Given the description of an element on the screen output the (x, y) to click on. 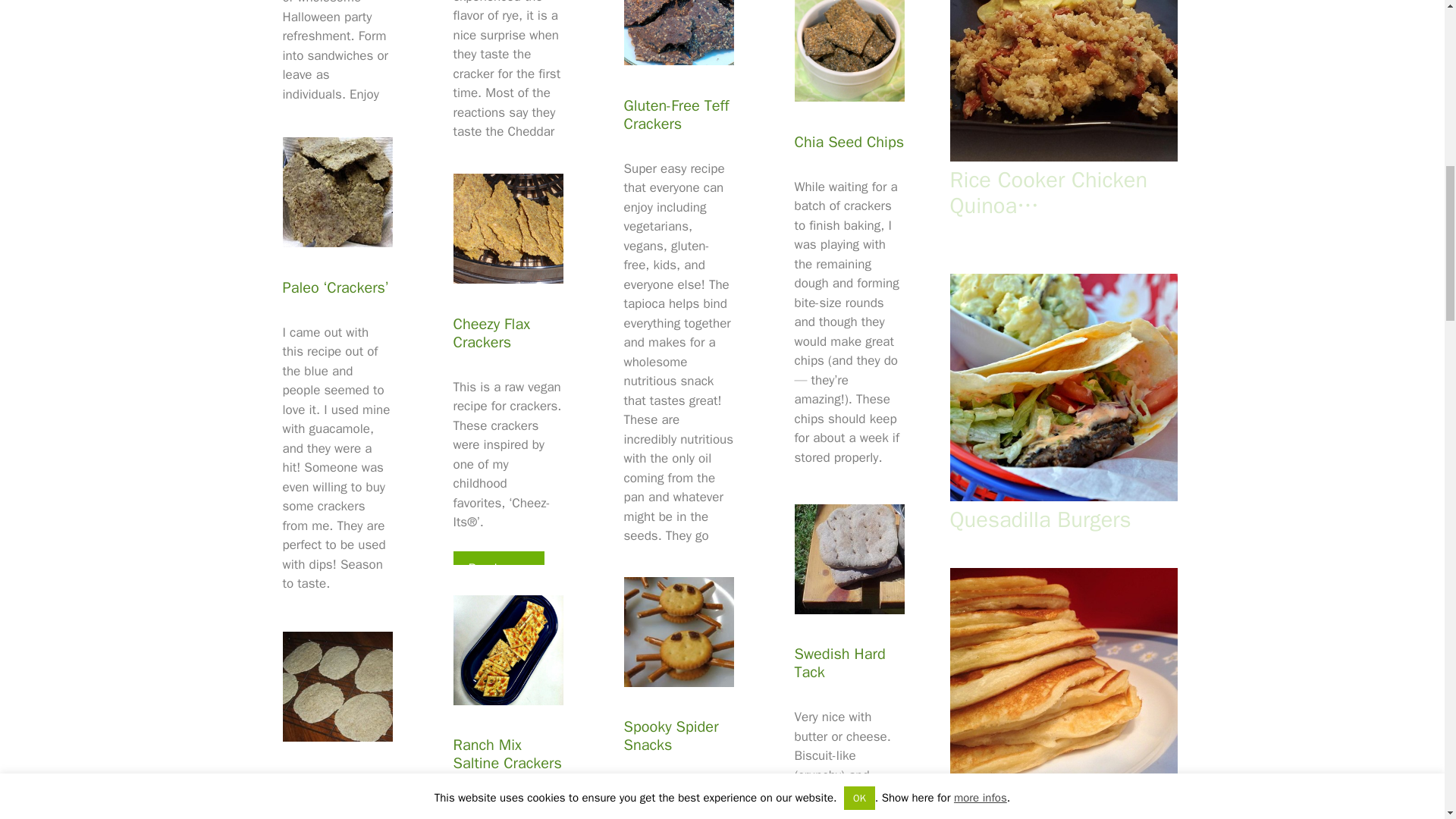
Rye and Cheese Crackers (498, 255)
Chia Seed Chips (840, 503)
PB Ghosties (328, 179)
Gluten-Free Teff Crackers (668, 640)
Cheezy Flax Crackers (498, 568)
